Given the description of an element on the screen output the (x, y) to click on. 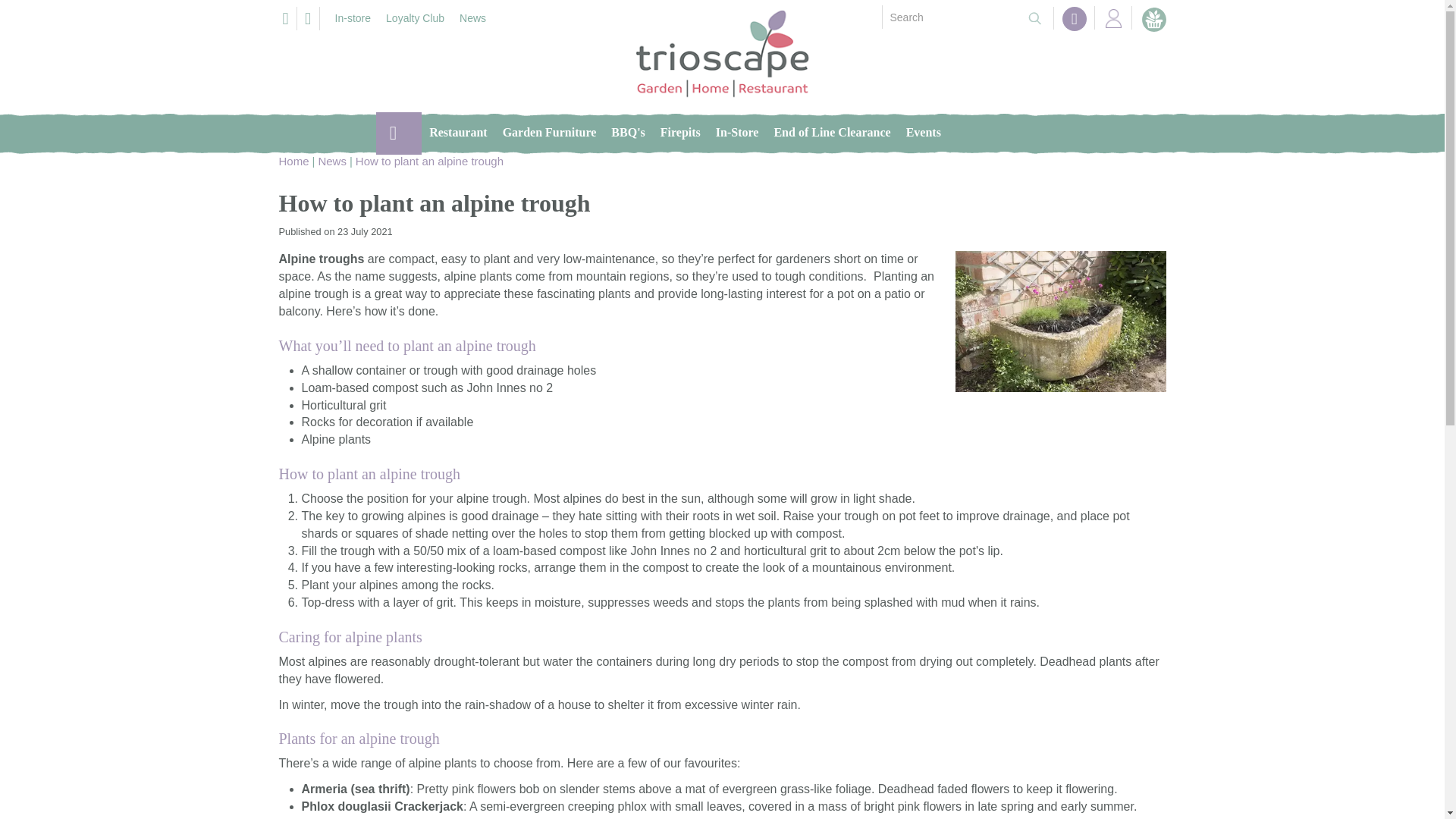
Home (398, 133)
BBQ's (628, 132)
Login (1112, 17)
Home (293, 161)
How to plant an alpine trough (429, 161)
News (331, 161)
Garden Furniture (549, 132)
Restaurant (458, 132)
News (472, 20)
Login (1112, 17)
